Given the description of an element on the screen output the (x, y) to click on. 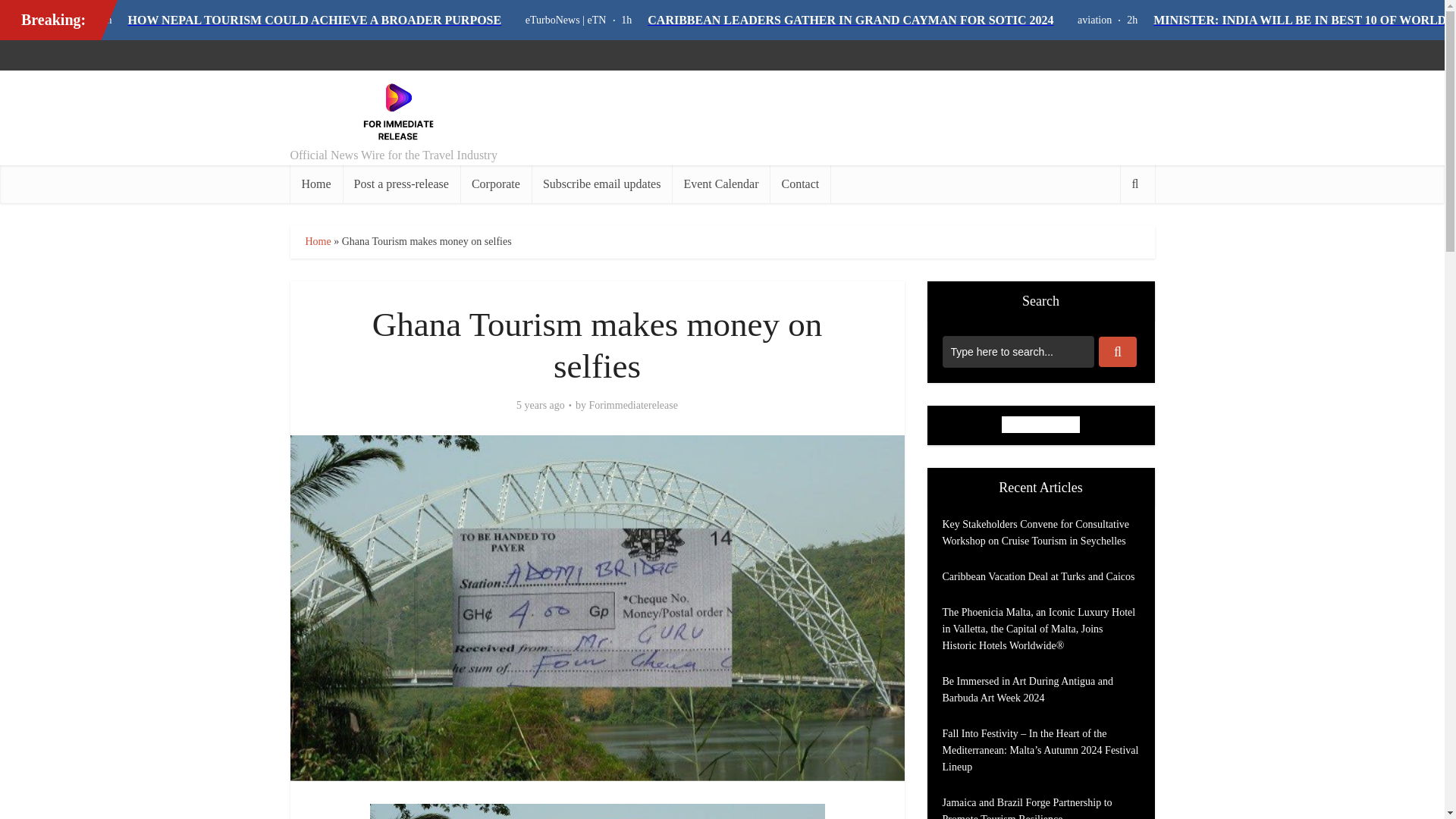
Contact (799, 184)
Post a press-release (401, 184)
Home (315, 184)
Home (317, 241)
Subscribe email updates (601, 184)
Type here to search... (1017, 351)
Event Calendar (720, 184)
Corporate (495, 184)
Forimmediaterelease (633, 405)
Advertisement (878, 117)
